Given the description of an element on the screen output the (x, y) to click on. 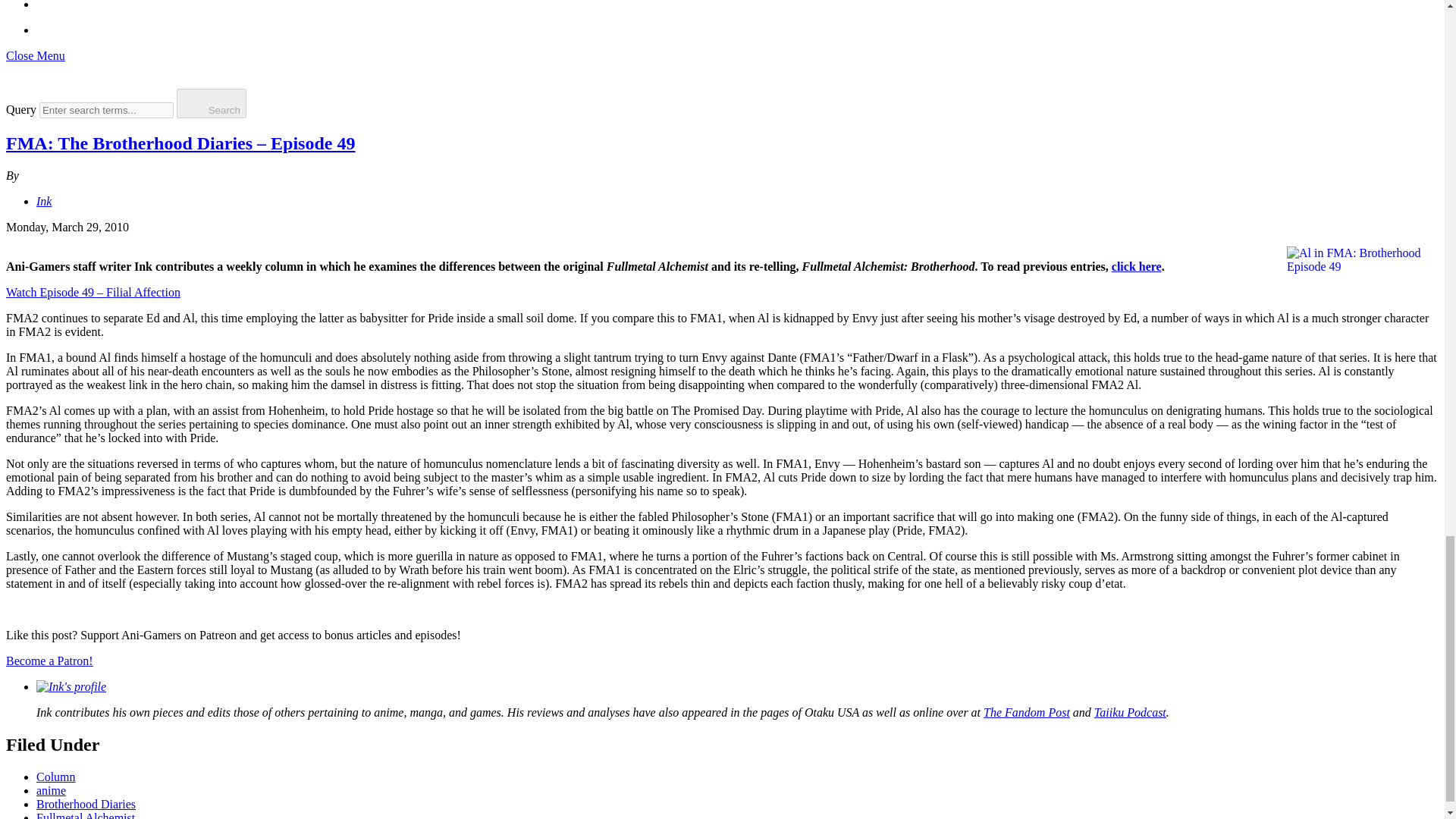
The Fandom Post (1027, 712)
Close Search Form (260, 101)
Become a Patron! (49, 660)
Column (55, 776)
Otaku USA (832, 712)
Subscribe (47, 29)
Subscribe (47, 22)
Search (17, 74)
Search (17, 81)
Close Menu (35, 55)
